Given the description of an element on the screen output the (x, y) to click on. 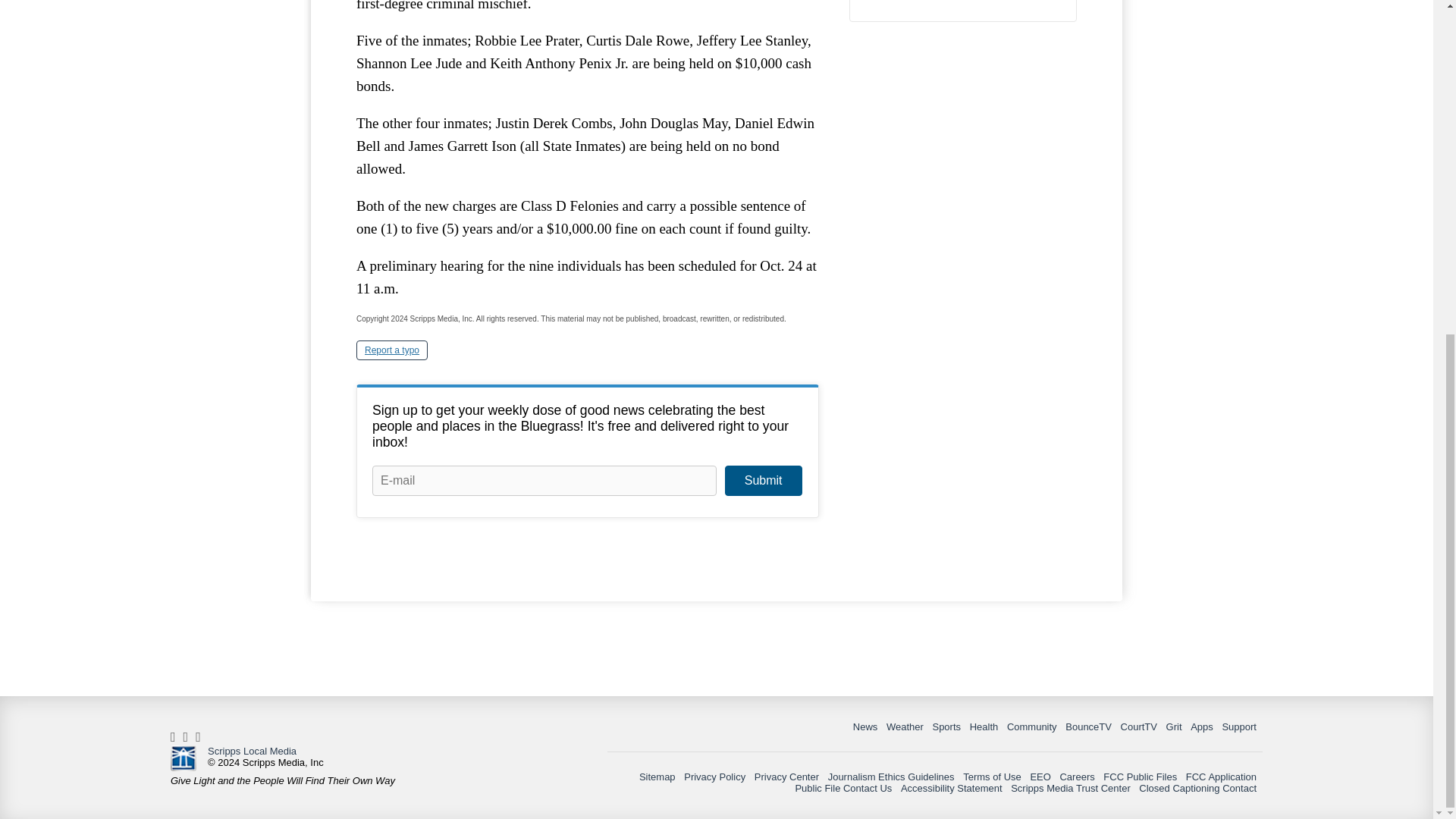
Submit (763, 481)
